Given the description of an element on the screen output the (x, y) to click on. 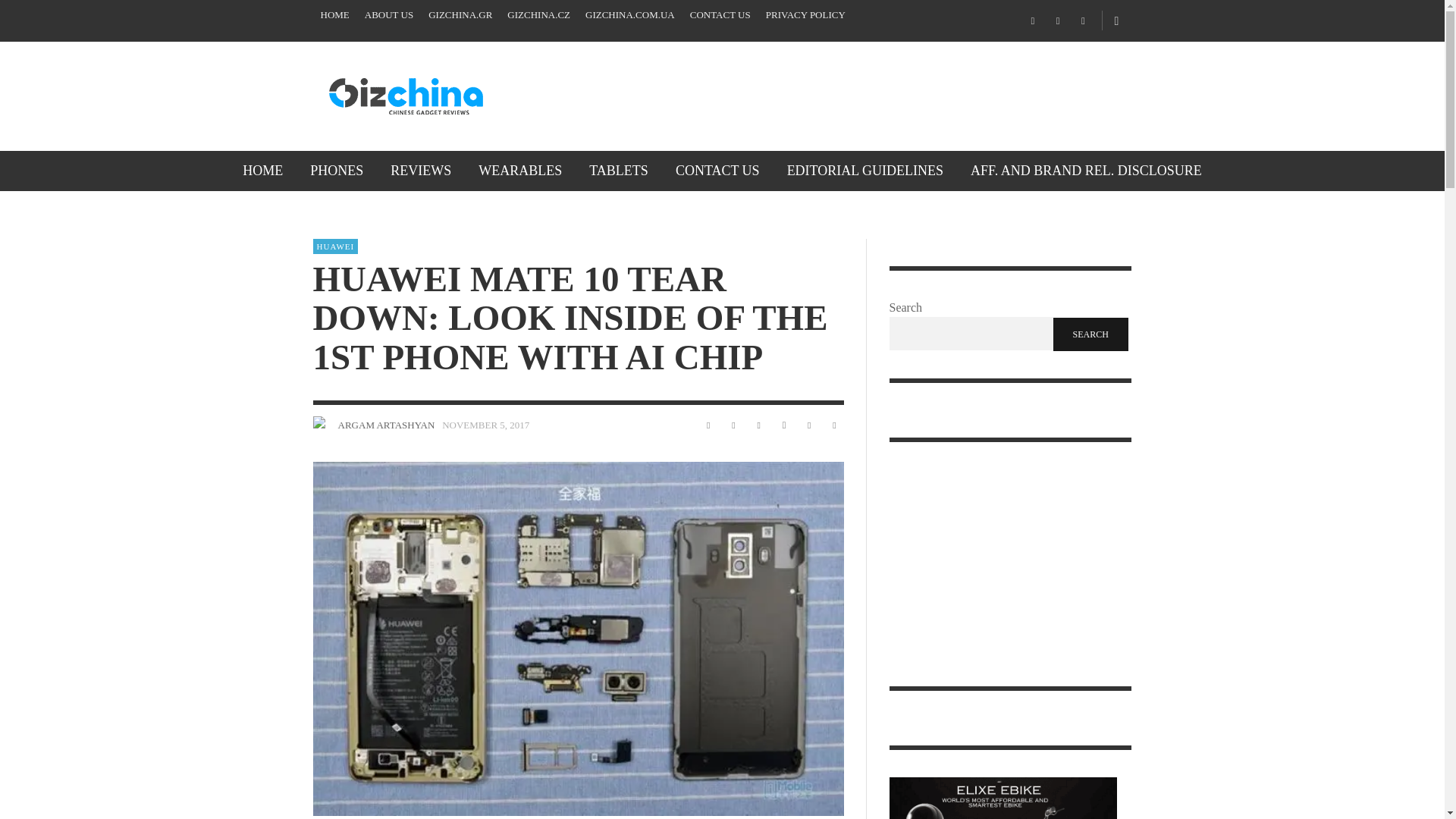
PHONES (337, 170)
HOME (334, 15)
PRIVACY POLICY (805, 15)
GIZCHINA.COM.UA (630, 15)
GIZCHINA.GR (459, 15)
CONTACT US (720, 15)
GIZCHINA.CZ (538, 15)
ABOUT US (388, 15)
REVIEWS (420, 170)
HOME (262, 170)
